Given the description of an element on the screen output the (x, y) to click on. 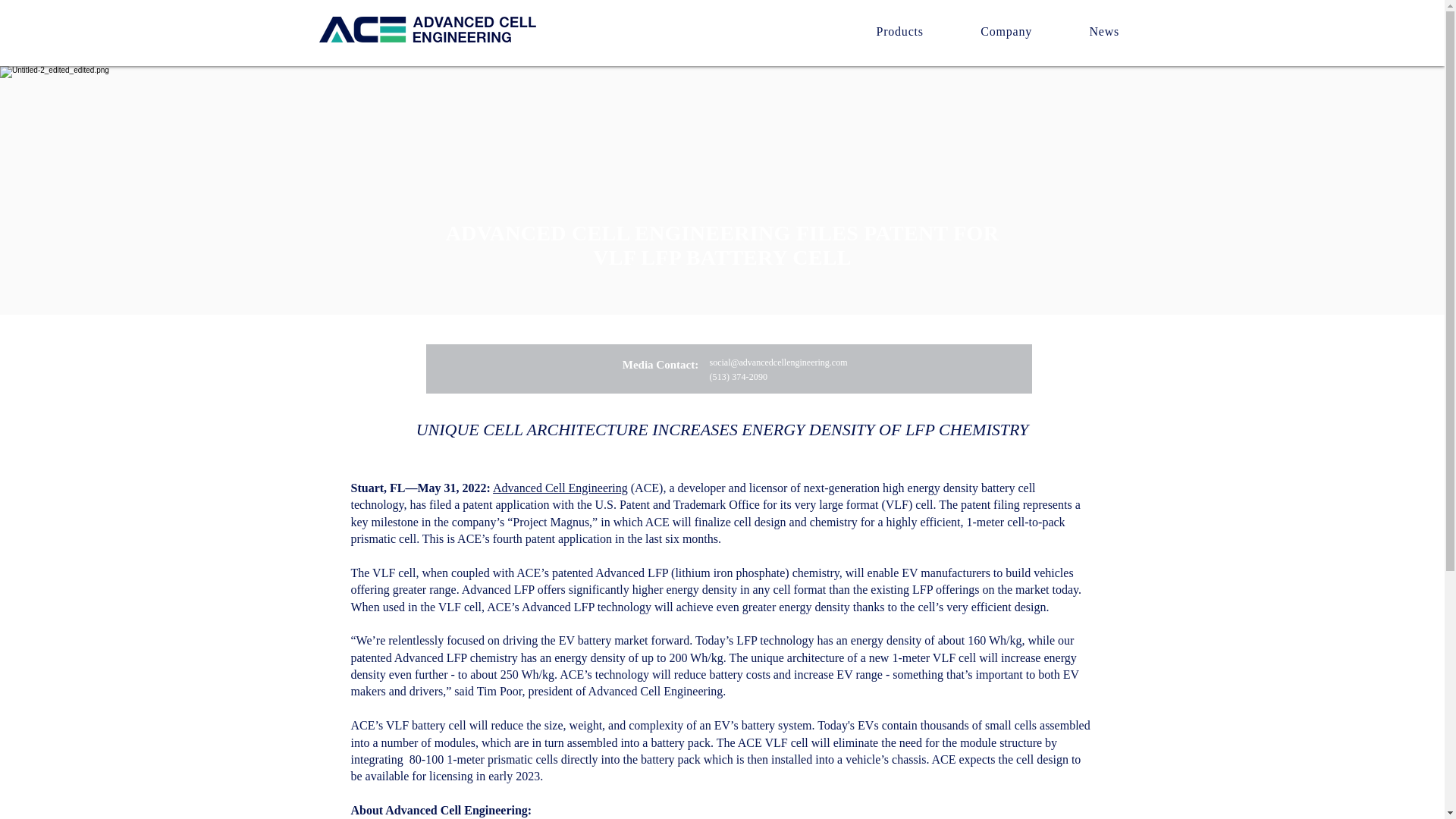
News (1104, 31)
Company (1006, 31)
Products (899, 31)
Advanced Cell Engineering (560, 487)
